Given the description of an element on the screen output the (x, y) to click on. 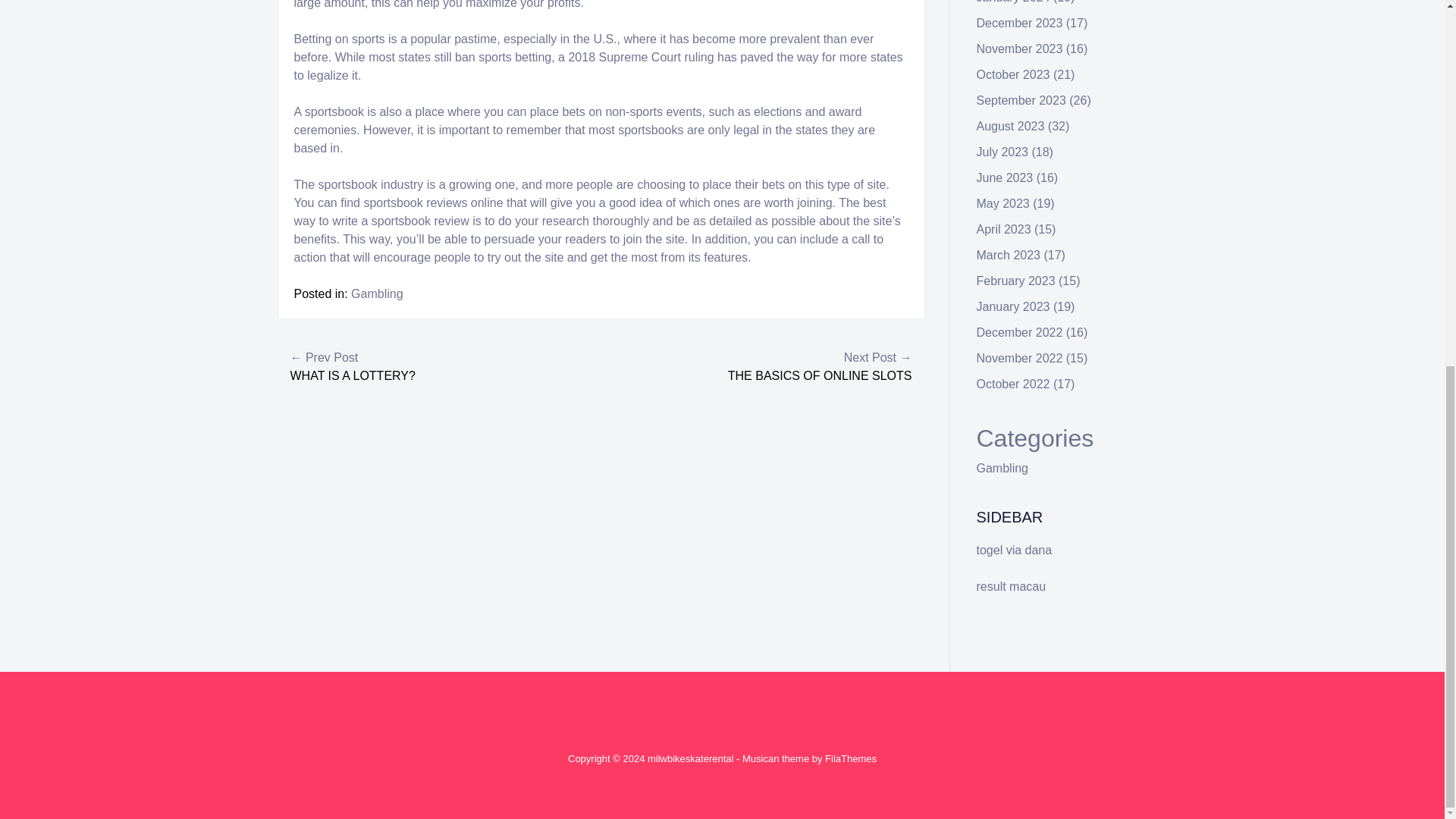
December 2023 (1019, 22)
April 2023 (1003, 228)
January 2024 (1012, 2)
July 2023 (1002, 151)
January 2023 (1012, 306)
October 2022 (1012, 383)
September 2023 (1020, 100)
May 2023 (1002, 203)
Gambling (1001, 468)
February 2023 (1015, 280)
November 2023 (1019, 48)
togel via dana (1014, 549)
June 2023 (1004, 177)
November 2022 (1019, 358)
milwbikeskaterental (690, 758)
